Given the description of an element on the screen output the (x, y) to click on. 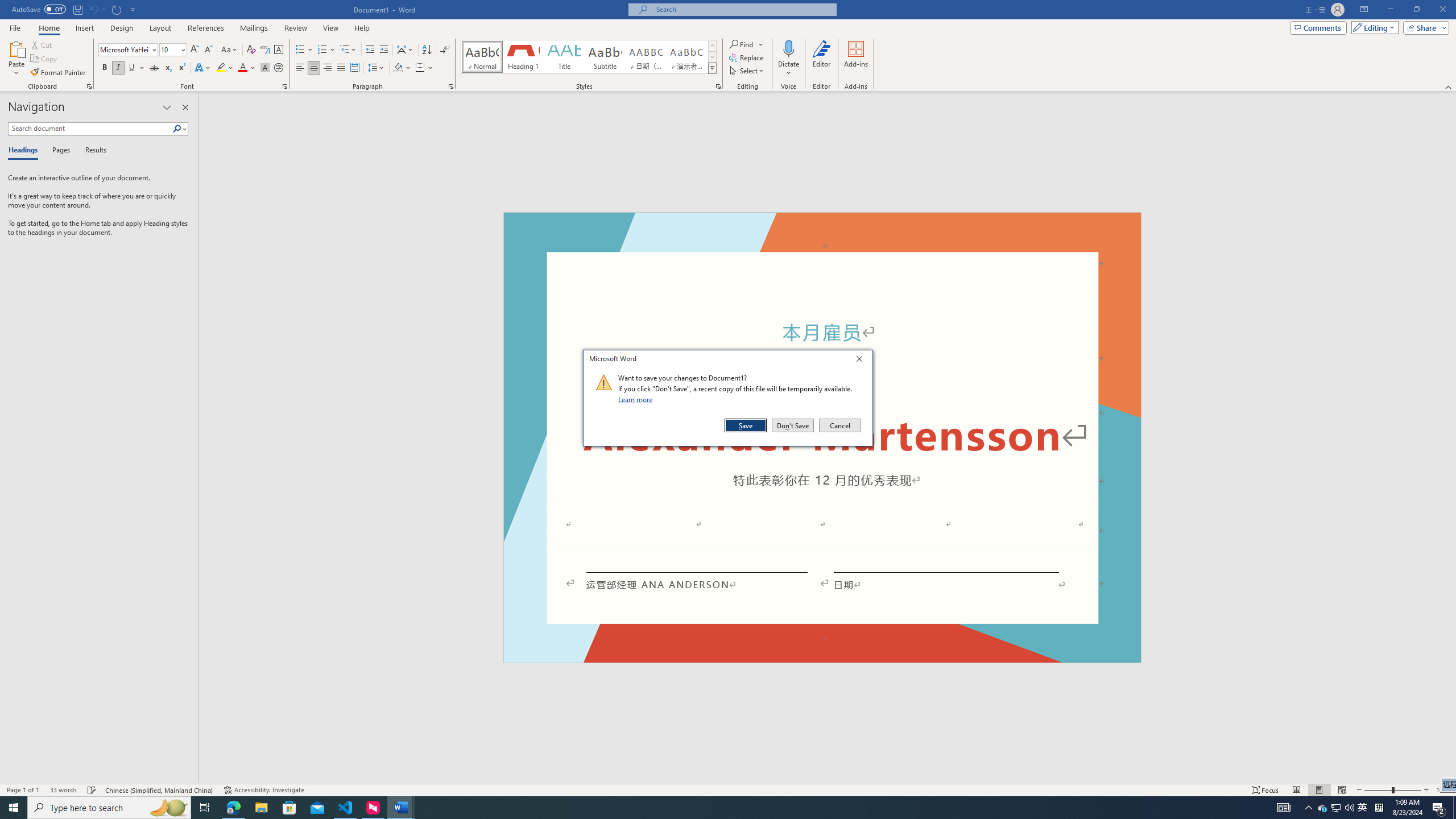
Cancel (839, 425)
